Given the description of an element on the screen output the (x, y) to click on. 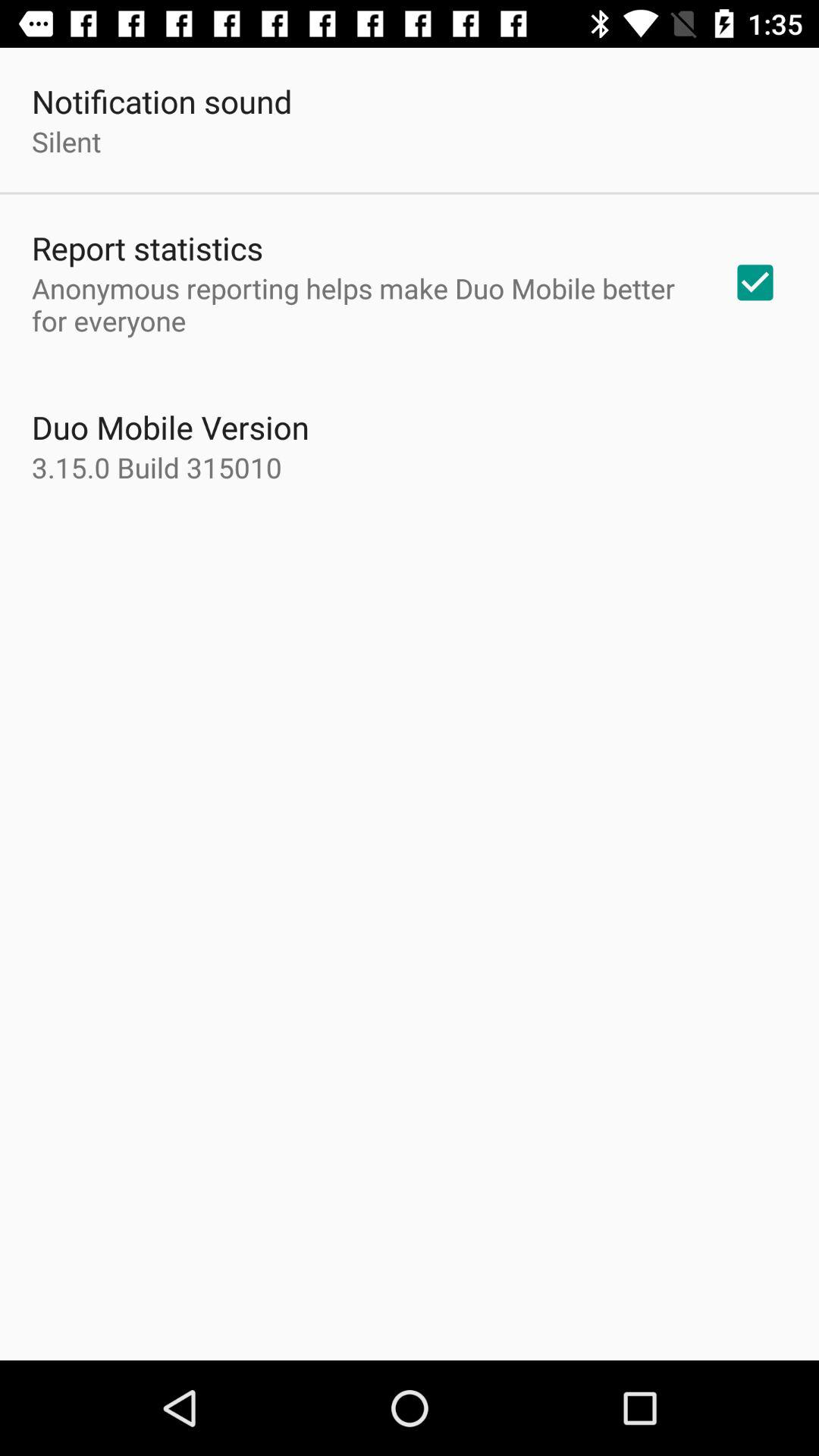
turn on the silent icon (66, 141)
